Given the description of an element on the screen output the (x, y) to click on. 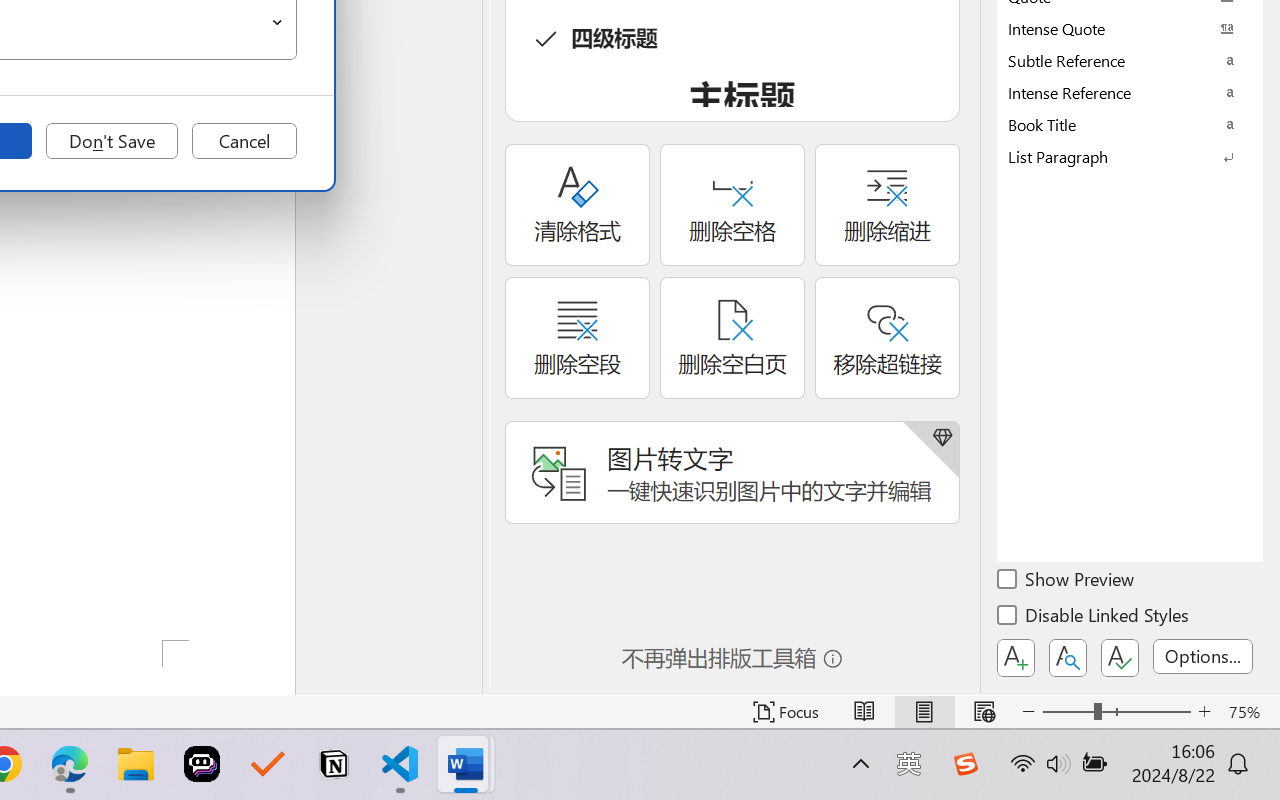
Read Mode (864, 712)
Cancel (244, 141)
Zoom (1116, 712)
Class: NetUIImage (1116, 156)
Disable Linked Styles (1094, 618)
Intense Reference (1130, 92)
Print Layout (924, 712)
